Given the description of an element on the screen output the (x, y) to click on. 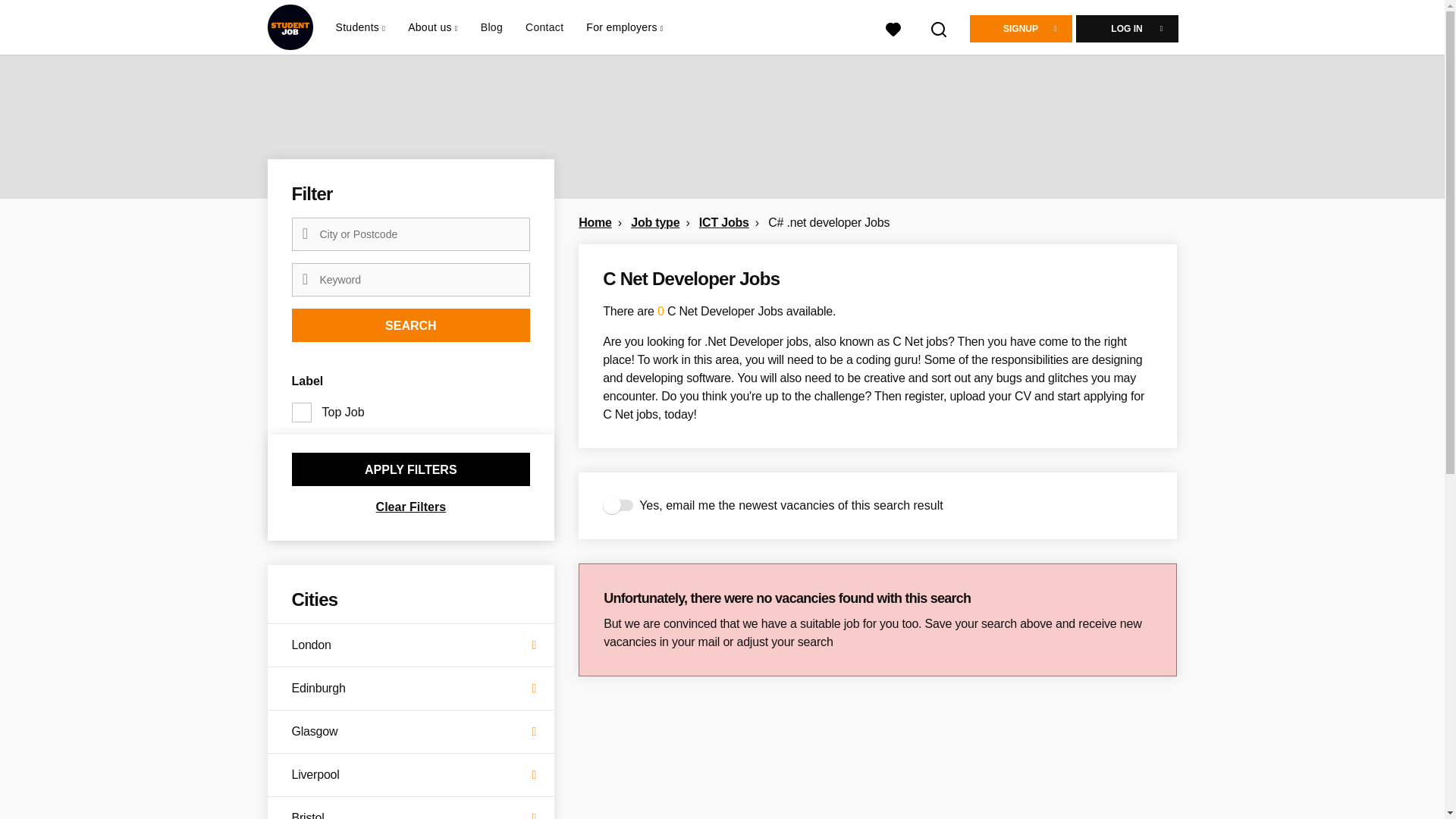
Job type (654, 222)
ICT Jobs (723, 222)
StudentJob UK (289, 26)
Home (594, 222)
